Given the description of an element on the screen output the (x, y) to click on. 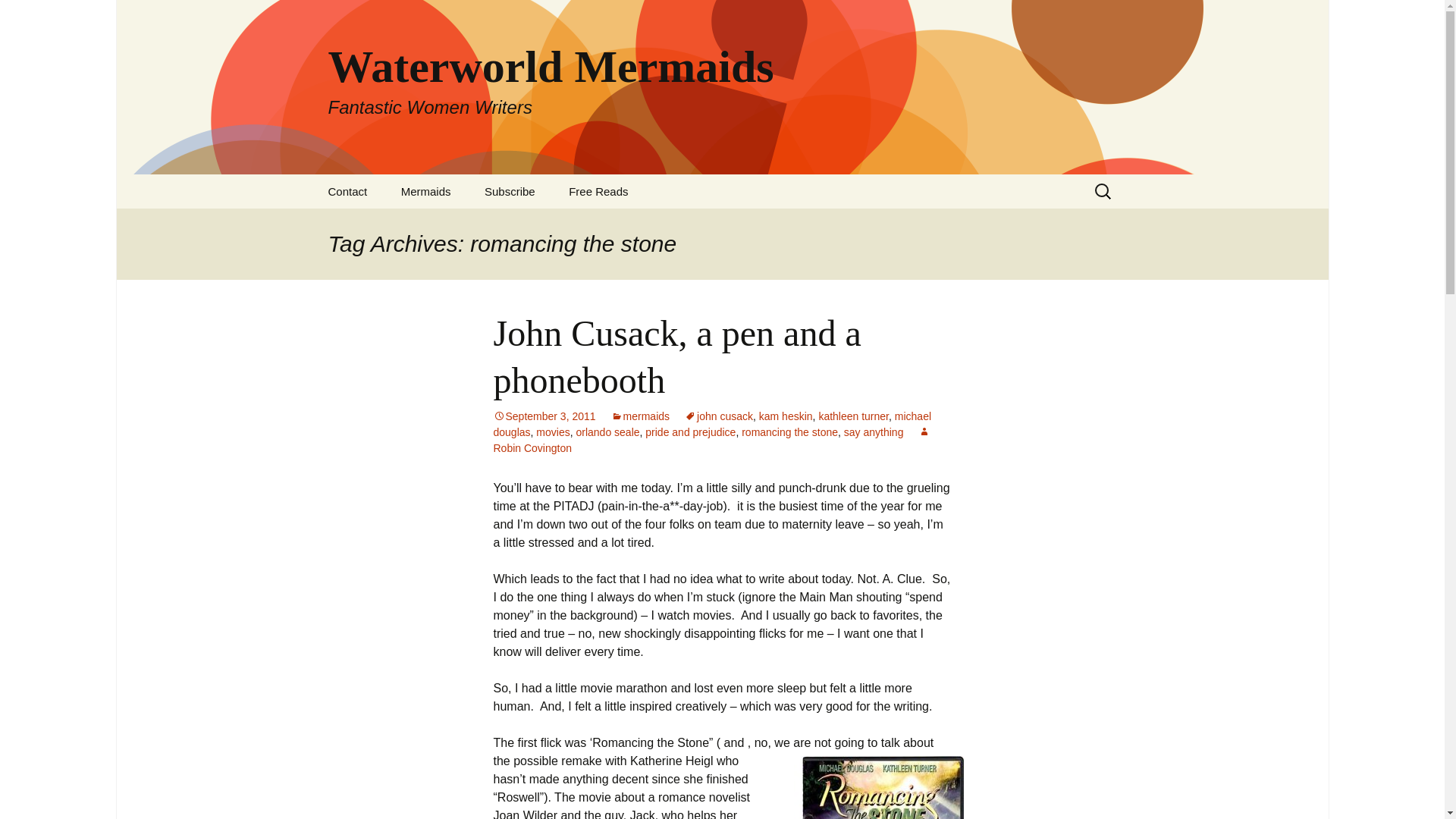
movies (552, 431)
orlando seale (607, 431)
john cusack (718, 416)
kam heskin (853, 416)
Romancing the stone (785, 416)
Contact (881, 787)
Mermaids (347, 191)
Search (425, 191)
Skip to content (18, 15)
Waterworld Mermaids (640, 416)
Skip to content (598, 191)
